Given the description of an element on the screen output the (x, y) to click on. 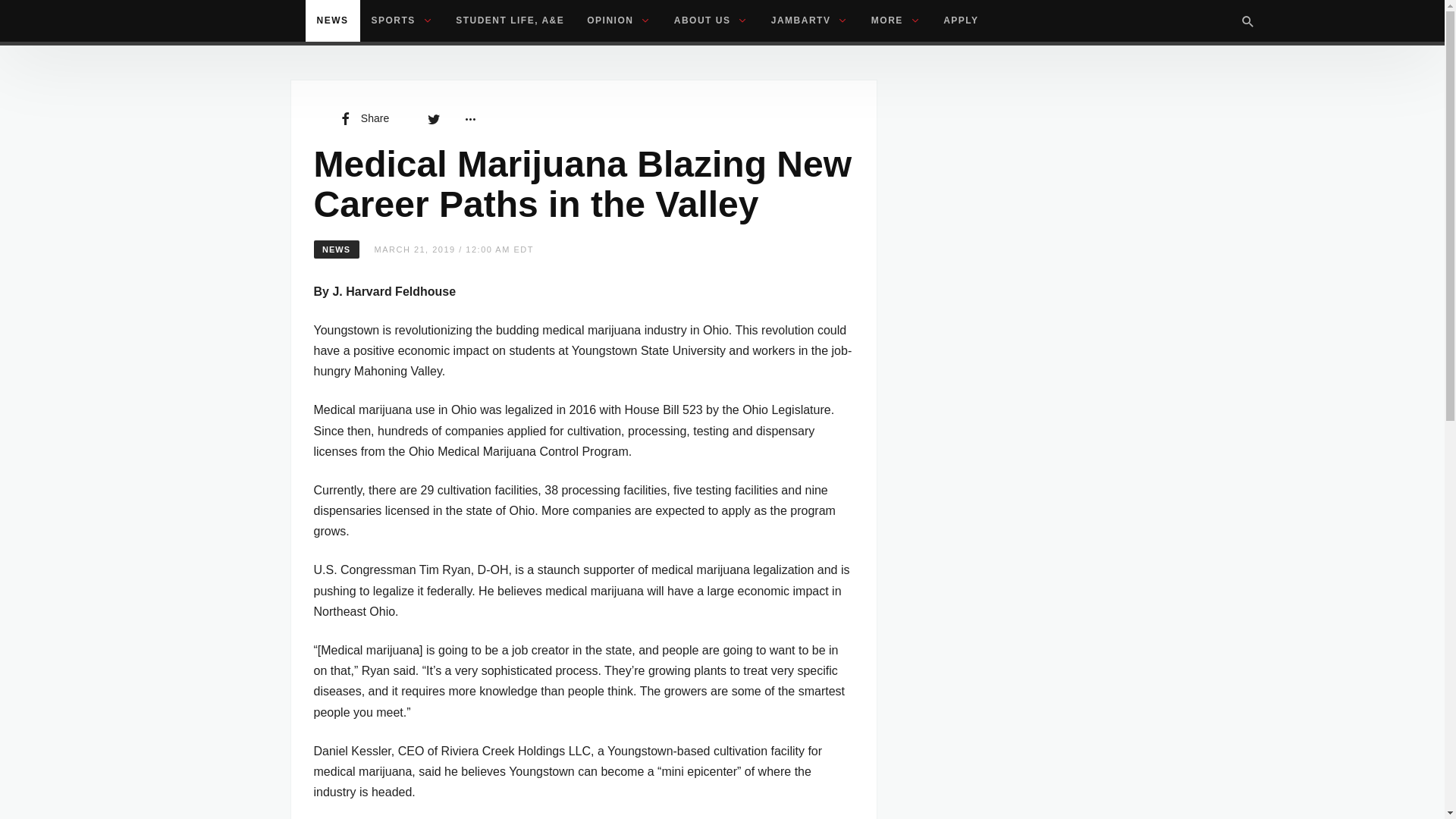
Share on Facebook (363, 118)
MORE (895, 20)
NEWS (331, 20)
OPINION (618, 20)
View all posts in News (336, 249)
SPORTS (401, 20)
ABOUT US (711, 20)
Share on Twitter (433, 118)
APPLY (960, 20)
More (469, 118)
JAMBARTV (810, 20)
